Given the description of an element on the screen output the (x, y) to click on. 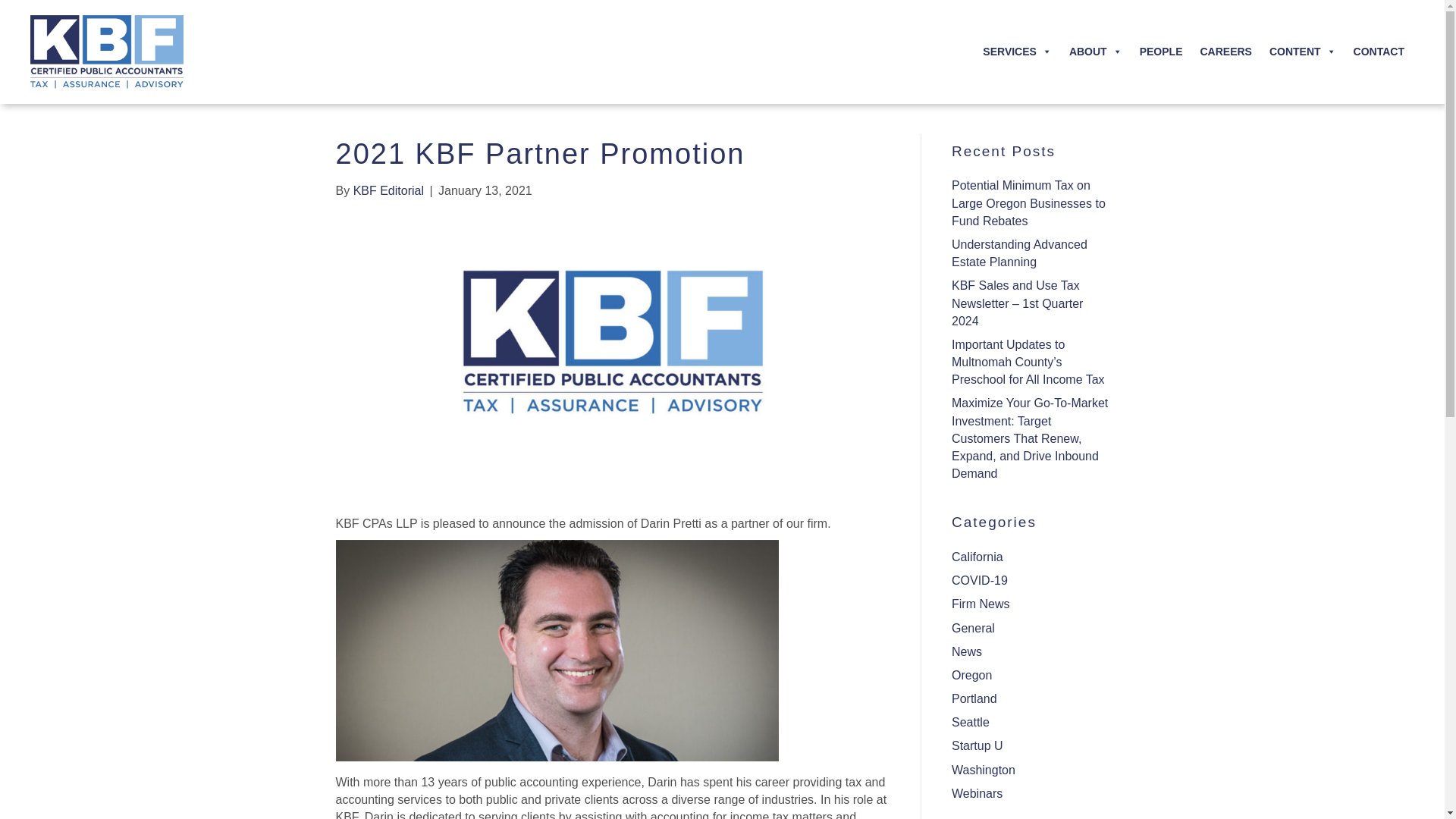
CAREERS (1225, 51)
CONTENT (1302, 51)
PEOPLE (1161, 51)
SERVICES (1017, 51)
ABOUT (1095, 51)
